Given the description of an element on the screen output the (x, y) to click on. 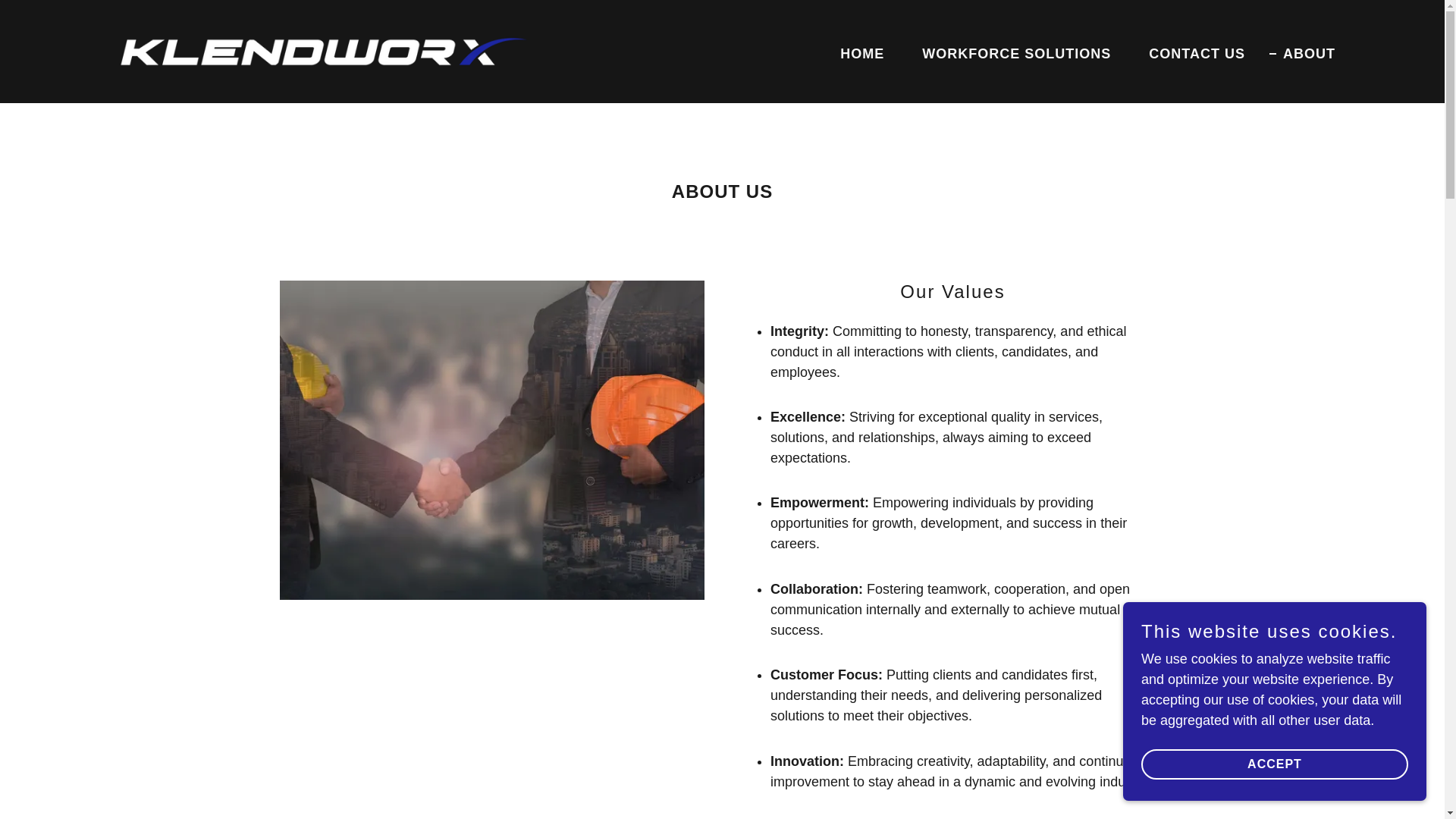
Klendworx Staffing Experts (323, 50)
ABOUT (1302, 53)
HOME (855, 52)
WORKFORCE SOLUTIONS (1009, 52)
ACCEPT (1274, 764)
CONTACT US (1190, 52)
